Given the description of an element on the screen output the (x, y) to click on. 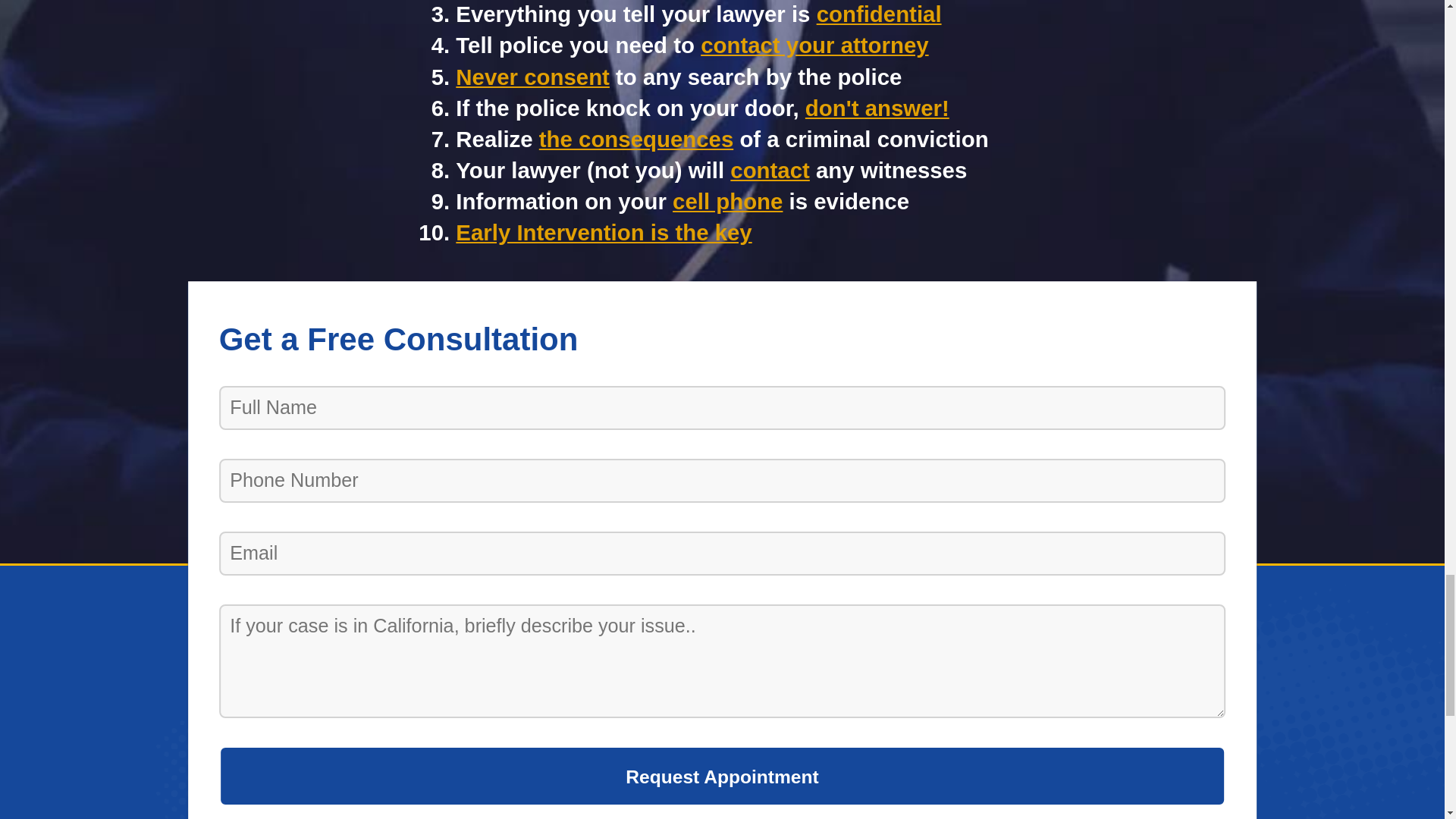
Request Appointment (722, 775)
